Given the description of an element on the screen output the (x, y) to click on. 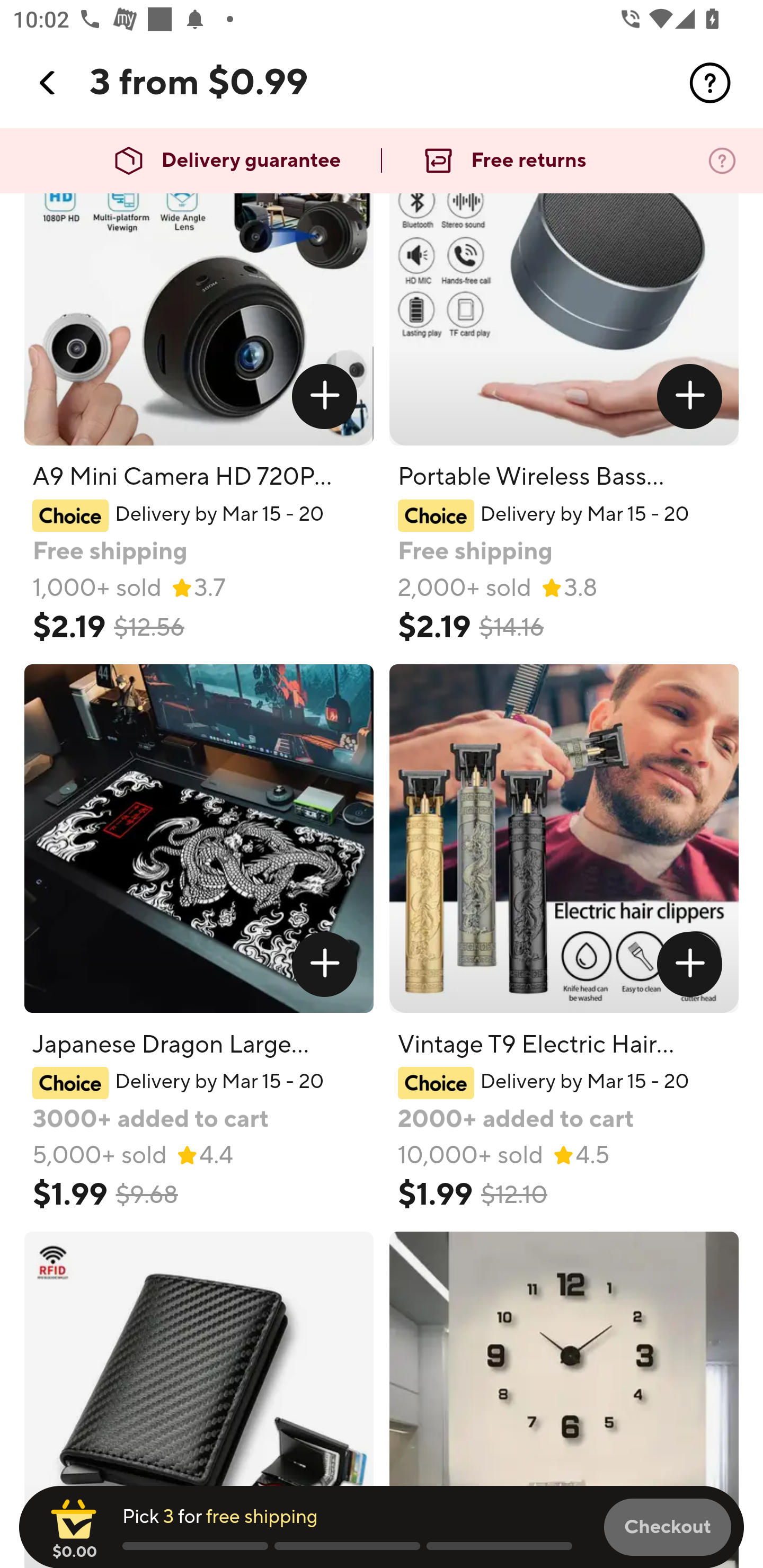
 (710, 82)
 (48, 82)
 (323, 397)
 (689, 397)
 (323, 964)
 (689, 964)
